Given the description of an element on the screen output the (x, y) to click on. 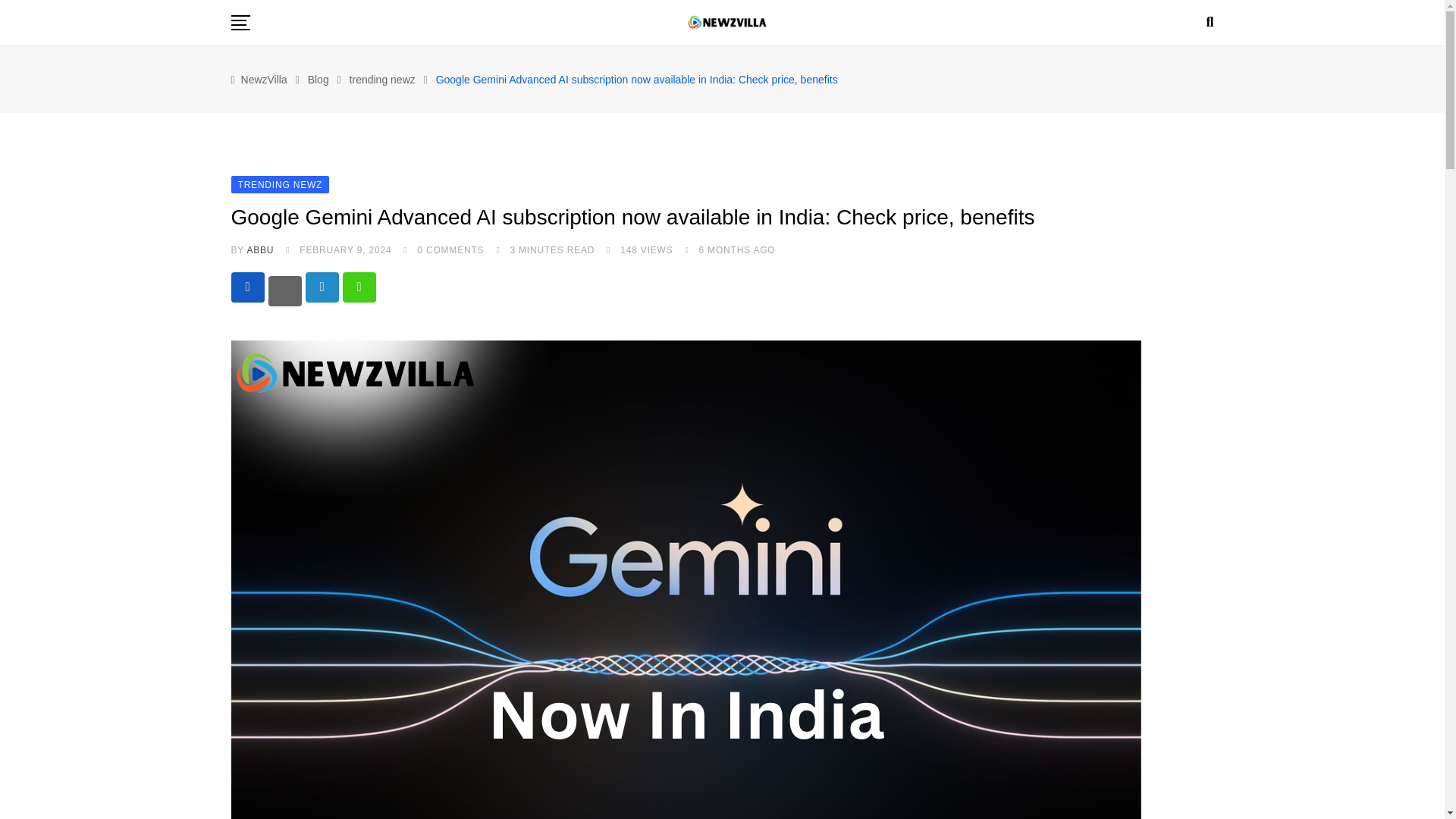
trending newz (381, 79)
LinkedIn (320, 286)
NewzVilla (263, 79)
Blog (318, 79)
Go to NewzVilla. (263, 79)
Go to the trending newz category archives. (381, 79)
ABBU (259, 249)
Go to Blog. (318, 79)
TRENDING NEWZ (279, 183)
Whatsapp (358, 286)
